Given the description of an element on the screen output the (x, y) to click on. 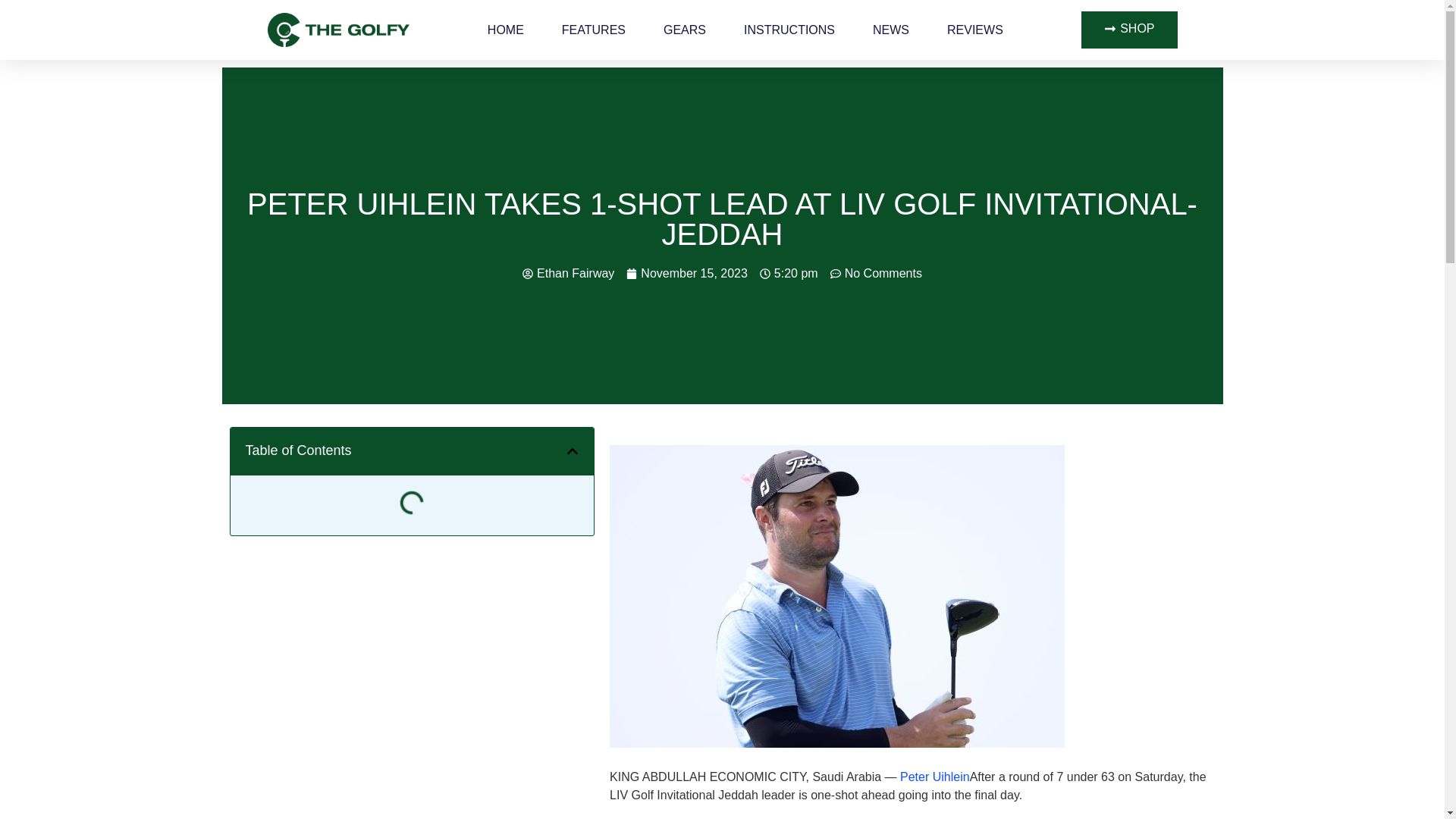
Ethan Fairway (568, 273)
SHOP (1128, 29)
HOME (505, 29)
November 15, 2023 (687, 273)
REVIEWS (975, 29)
No Comments (875, 273)
INSTRUCTIONS (789, 29)
Peter Uihlein (934, 776)
GEARS (684, 29)
FEATURES (594, 29)
NEWS (890, 29)
